Given the description of an element on the screen output the (x, y) to click on. 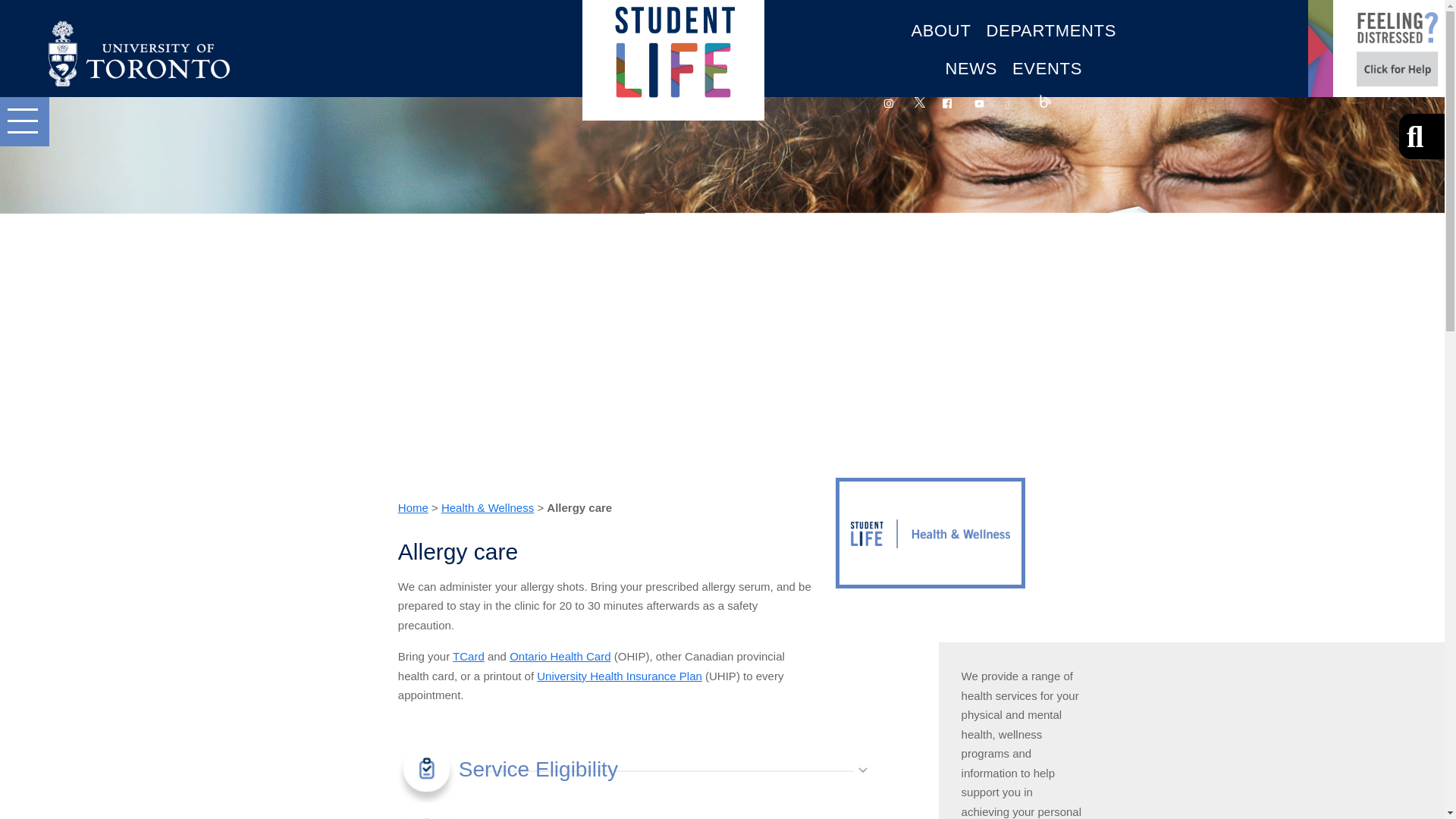
NEWS (970, 68)
DEPARTMENTS (1050, 30)
ABOUT (940, 30)
